Given the description of an element on the screen output the (x, y) to click on. 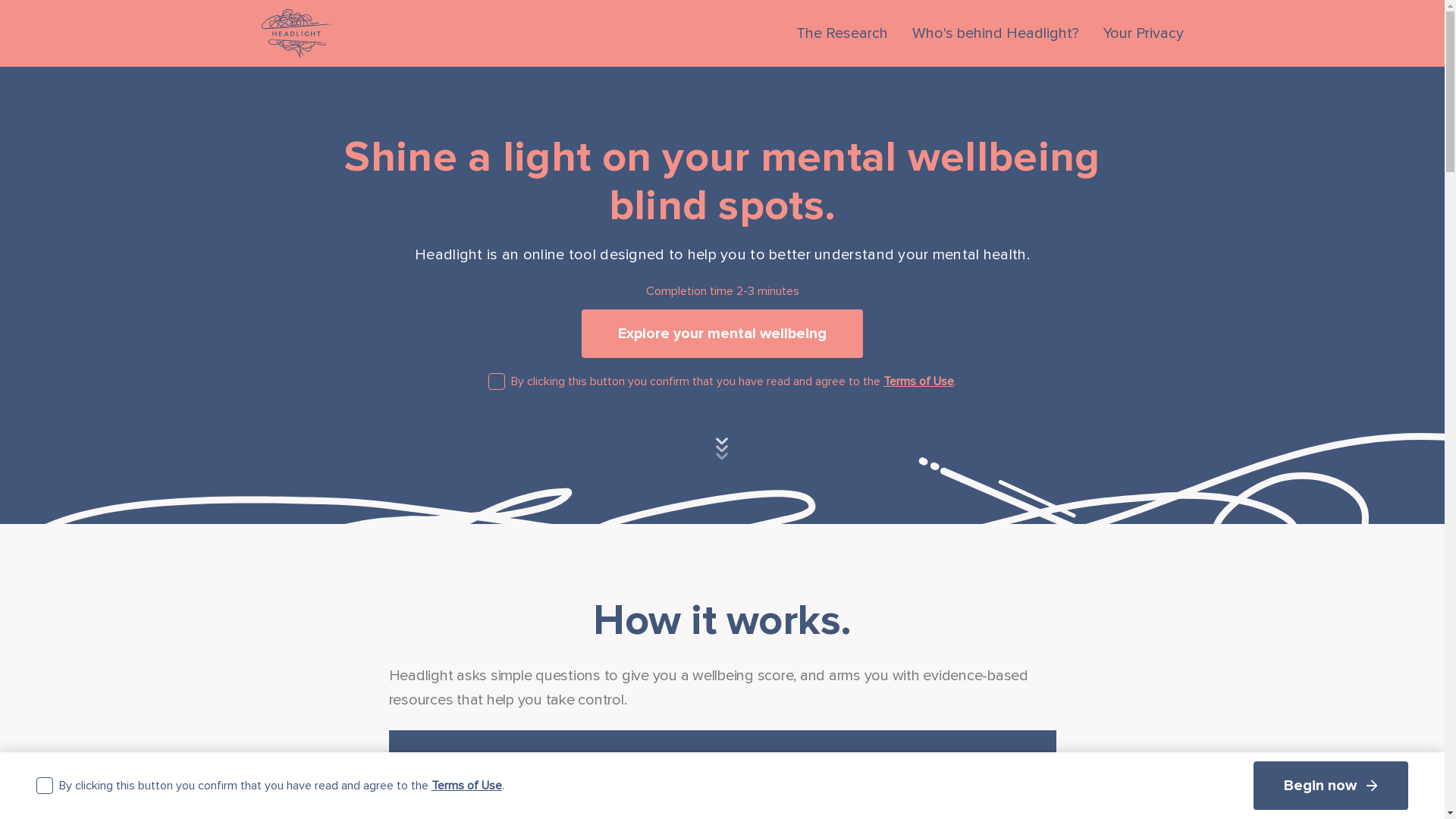
Who's behind Headlight? Element type: text (994, 33)
Terms of Use Element type: text (918, 381)
Your Privacy Element type: text (1142, 33)
Explore your mental wellbeing Element type: text (721, 333)
The Research Element type: text (842, 33)
Begin now Element type: text (1330, 785)
Terms of Use Element type: text (466, 785)
